Given the description of an element on the screen output the (x, y) to click on. 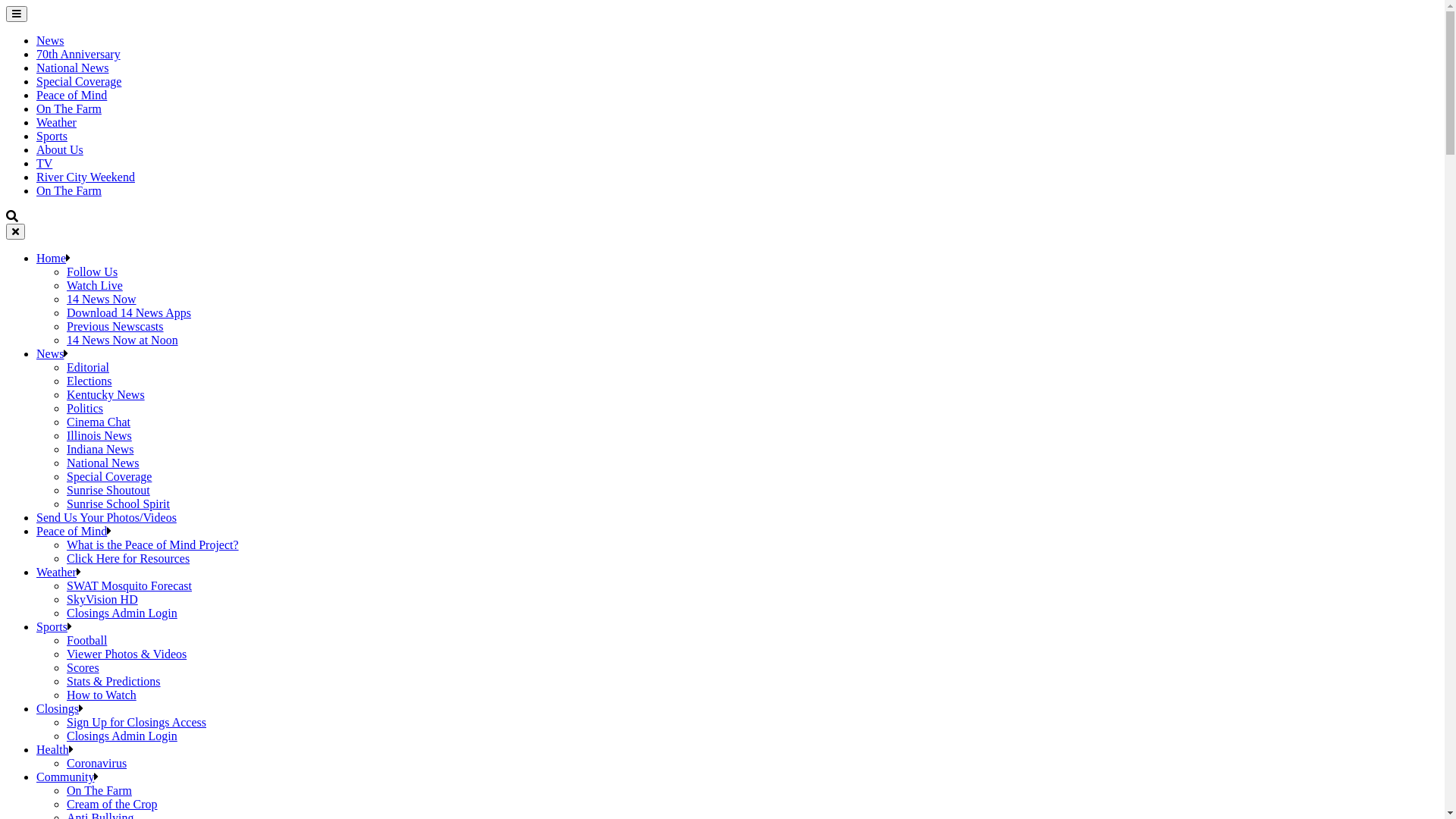
Peace of Mind Element type: text (71, 530)
News Element type: text (49, 353)
Scores Element type: text (82, 667)
Football Element type: text (86, 639)
Sunrise Shoutout Element type: text (108, 489)
Special Coverage Element type: text (78, 81)
Previous Newscasts Element type: text (114, 326)
Viewer Photos & Videos Element type: text (126, 653)
Closings Admin Login Element type: text (121, 612)
Click Here for Resources Element type: text (127, 558)
Send Us Your Photos/Videos Element type: text (106, 517)
Stats & Predictions Element type: text (113, 680)
On The Farm Element type: text (98, 790)
Editorial Element type: text (87, 366)
14 News Now Element type: text (101, 298)
National News Element type: text (102, 462)
Cinema Chat Element type: text (98, 421)
Closings Admin Login Element type: text (121, 735)
Follow Us Element type: text (91, 271)
Sunrise School Spirit Element type: text (117, 503)
How to Watch Element type: text (101, 694)
About Us Element type: text (59, 149)
Coronavirus Element type: text (96, 762)
Sports Element type: text (51, 135)
Skip to content Element type: text (5, 5)
Download 14 News Apps Element type: text (128, 312)
Cream of the Crop Element type: text (111, 803)
Health Element type: text (52, 749)
SWAT Mosquito Forecast Element type: text (128, 585)
TV Element type: text (44, 162)
Weather Element type: text (56, 122)
Weather Element type: text (56, 571)
Home Element type: text (50, 257)
Elections Element type: text (89, 380)
On The Farm Element type: text (68, 190)
Community Element type: text (65, 776)
Special Coverage Element type: text (108, 476)
Sign Up for Closings Access Element type: text (136, 721)
Kentucky News Element type: text (105, 394)
SkyVision HD Element type: text (102, 599)
River City Weekend Element type: text (85, 176)
Peace of Mind Element type: text (71, 94)
News Element type: text (49, 40)
Indiana News Element type: text (99, 448)
70th Anniversary Element type: text (78, 53)
On The Farm Element type: text (68, 108)
National News Element type: text (72, 67)
What is the Peace of Mind Project? Element type: text (152, 544)
Politics Element type: text (84, 407)
14 News Now at Noon Element type: text (122, 339)
Illinois News Element type: text (98, 435)
Watch Live Element type: text (94, 285)
Sports Element type: text (51, 626)
Closings Element type: text (57, 708)
